Given the description of an element on the screen output the (x, y) to click on. 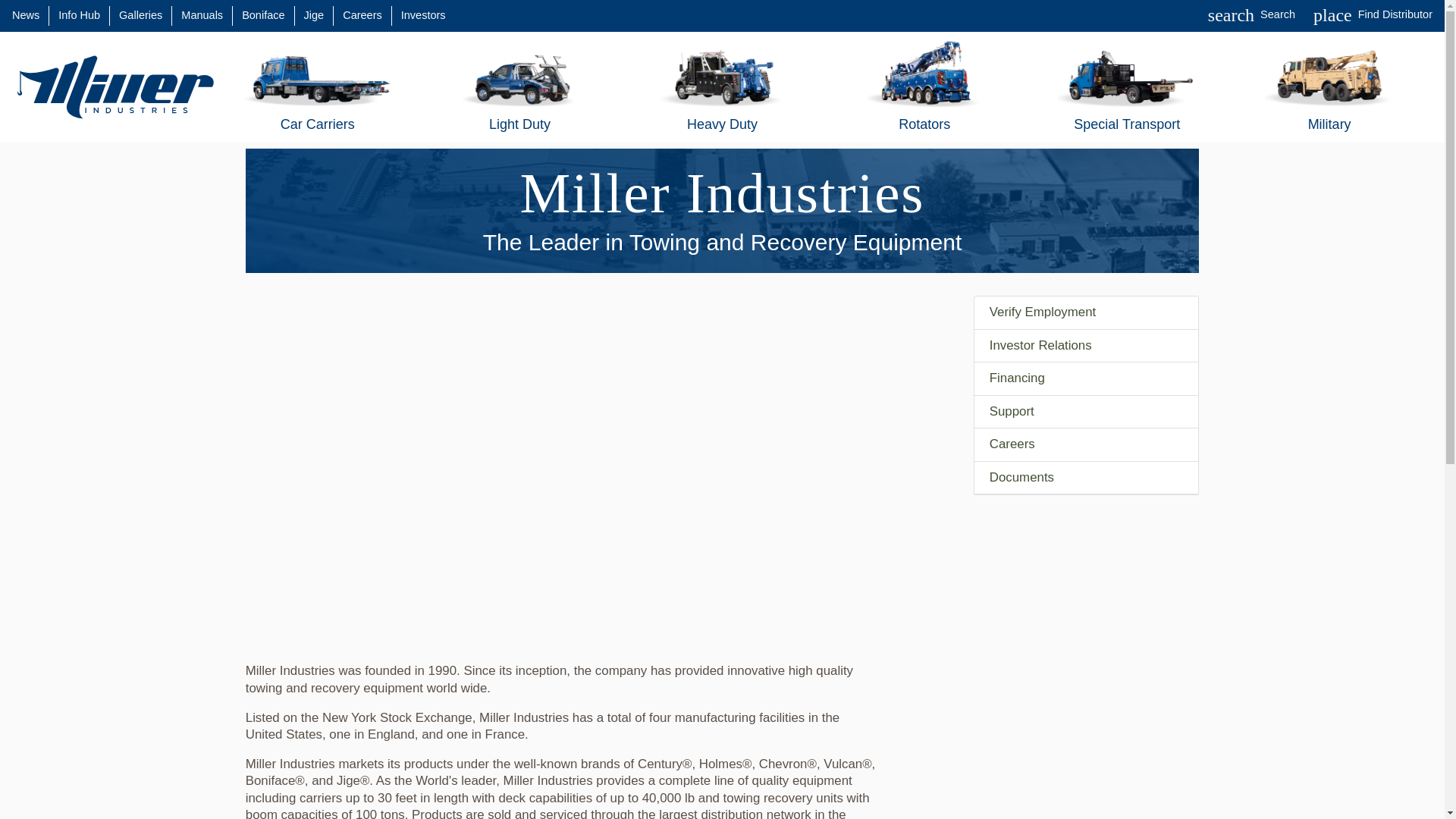
Investors (423, 15)
Car Carriers (317, 86)
Financing (1086, 378)
Rotators (924, 86)
News (1372, 14)
Verify Employment (25, 15)
Manuals (1086, 313)
Investor Relations (201, 15)
Careers (1086, 346)
